Given the description of an element on the screen output the (x, y) to click on. 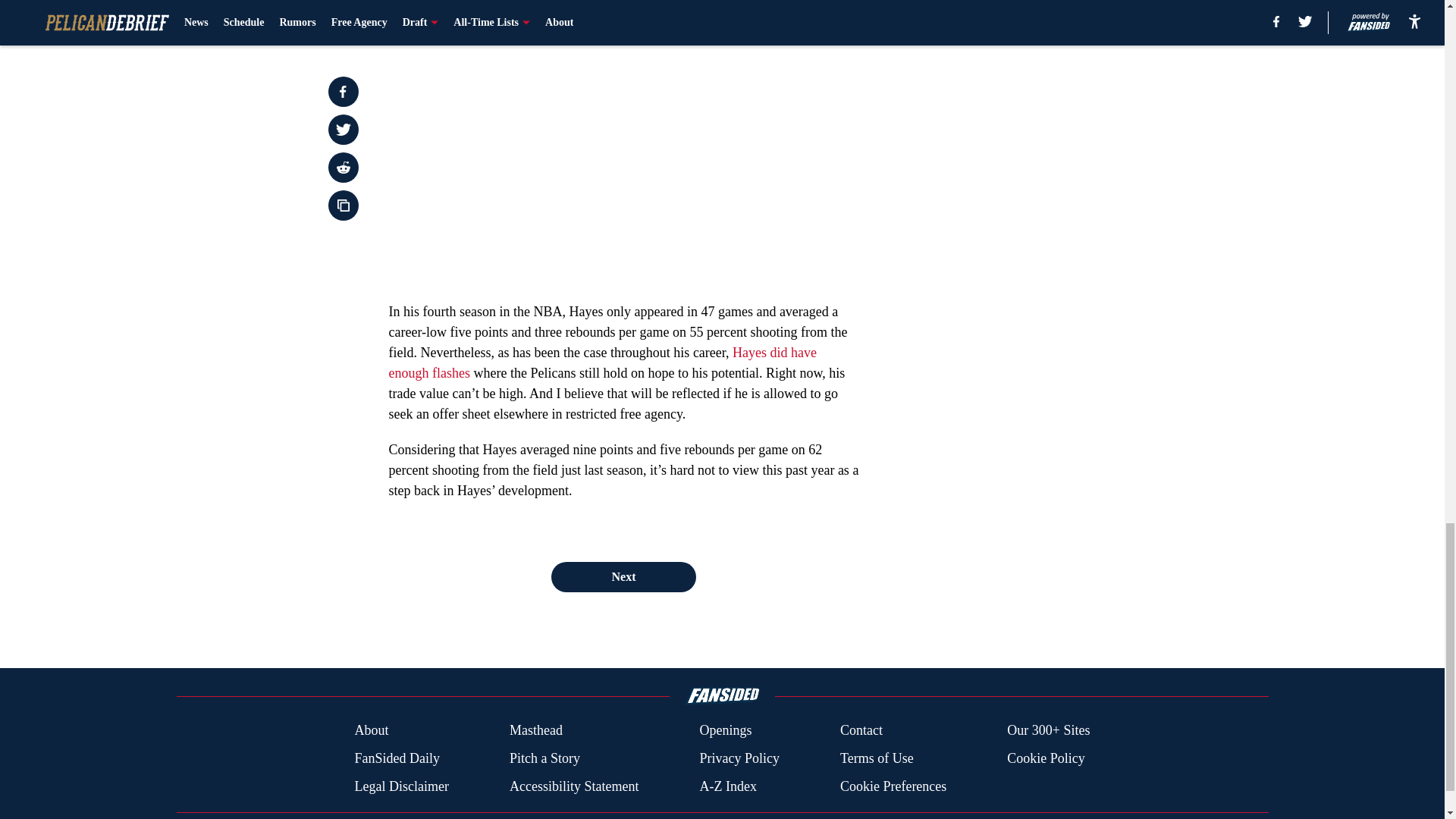
About (370, 730)
Hayes did have enough flashes (602, 362)
Contact (861, 730)
Next (622, 576)
Masthead (535, 730)
Openings (724, 730)
